Given the description of an element on the screen output the (x, y) to click on. 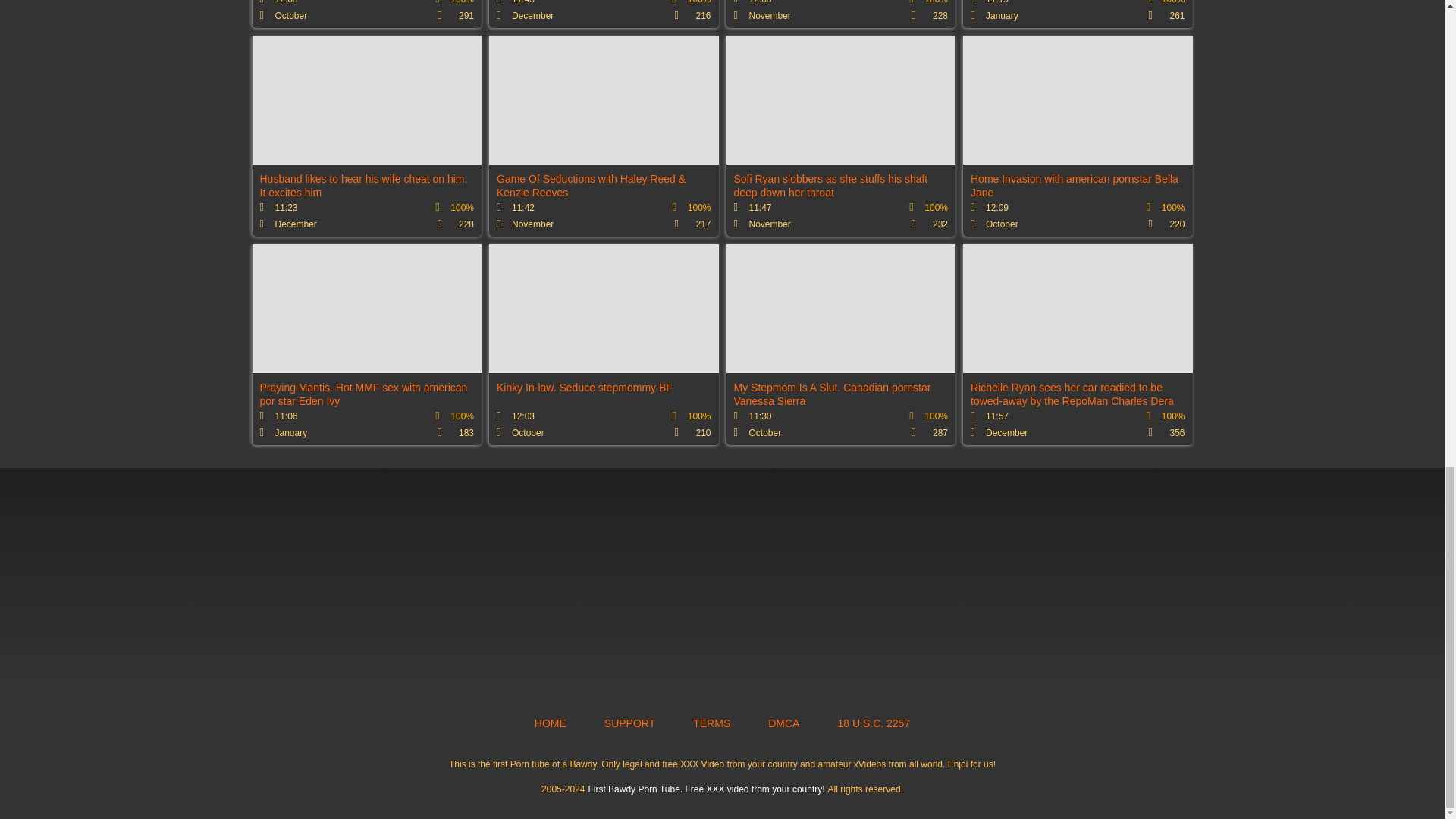
Home Invasion with american pornstar Bella Jane (1077, 136)
Husband likes to hear his wife cheat on him. It excites him (366, 136)
Interracial group sex with american pornstar Whitney Wright (604, 13)
My Stepmom Is A Slut. Canadian pornstar Vanessa Sierra (841, 344)
Kinky In-law. Seduce stepmommy BF (604, 344)
Home Invasion. 3some sex? (366, 13)
Praying Mantis. Hot MMF sex with american por star Eden Ivy (366, 344)
